Given the description of an element on the screen output the (x, y) to click on. 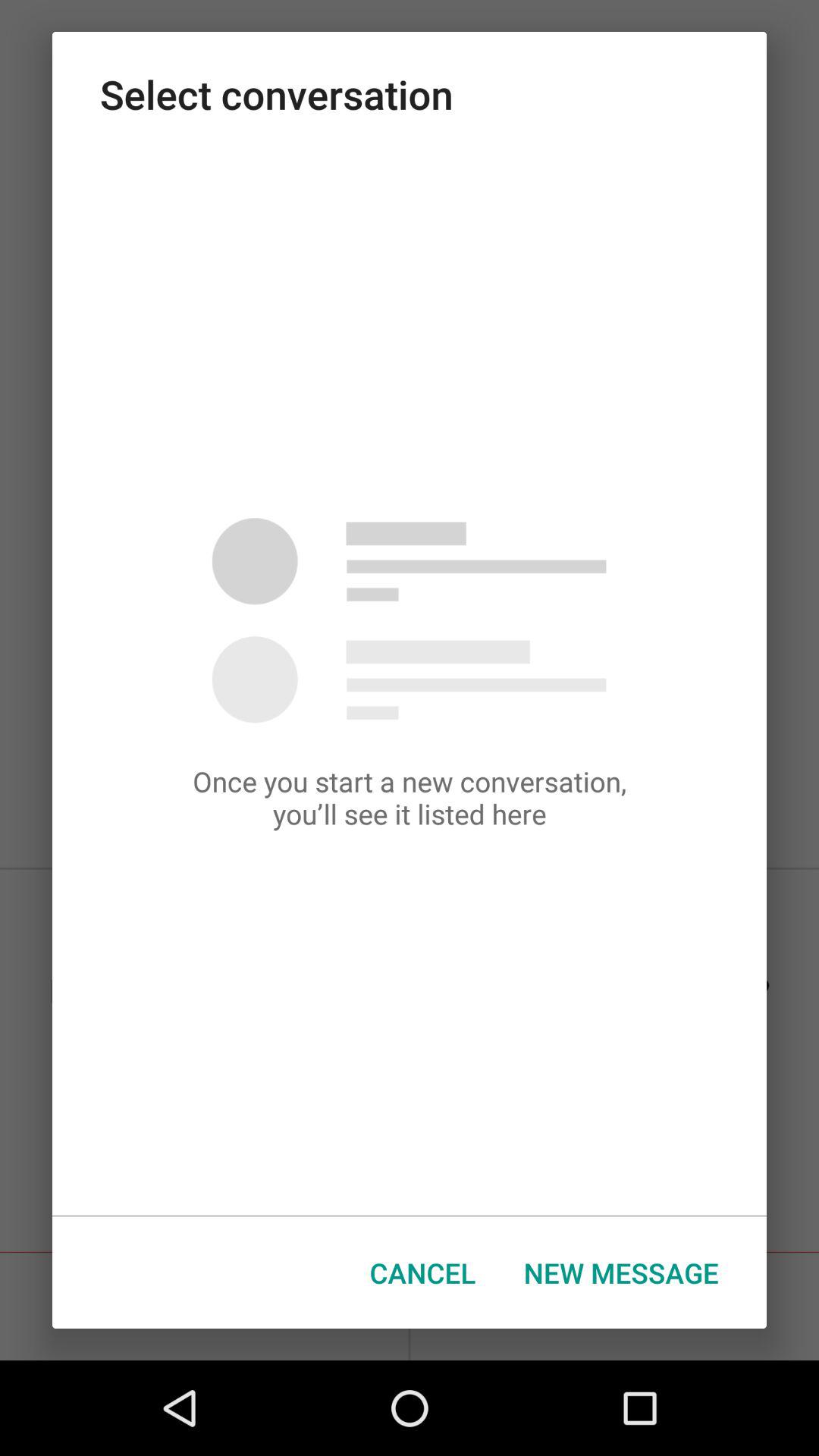
open icon to the right of cancel button (620, 1272)
